Given the description of an element on the screen output the (x, y) to click on. 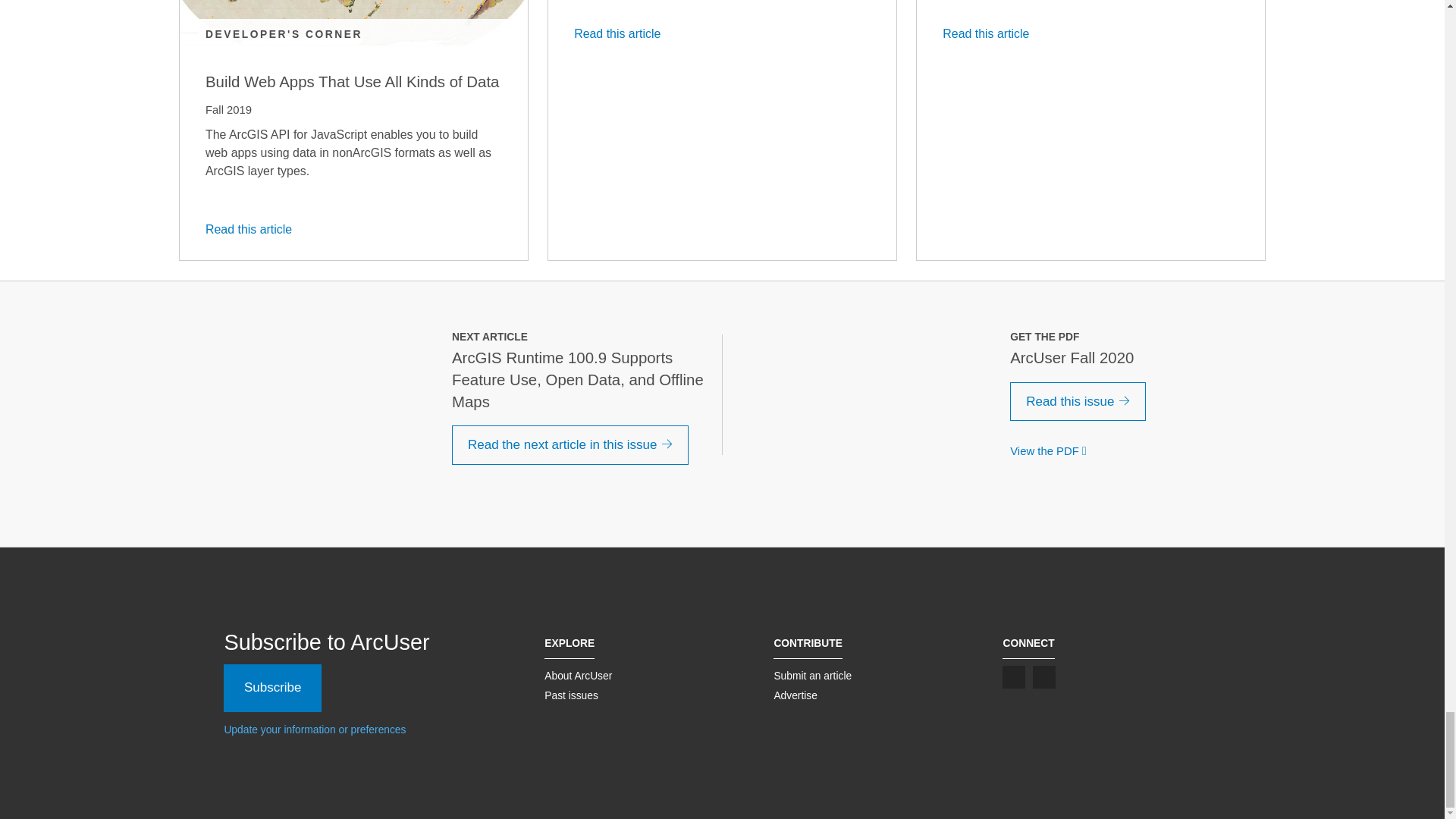
Read this article (990, 33)
Past issues (571, 695)
Read this article (253, 228)
About ArcUser (577, 675)
Read this issue (1077, 401)
Advertise (794, 695)
Read this article (621, 33)
Update your information or preferences (315, 729)
Submit an article (812, 675)
Read the next article in this issue (569, 445)
